Given the description of an element on the screen output the (x, y) to click on. 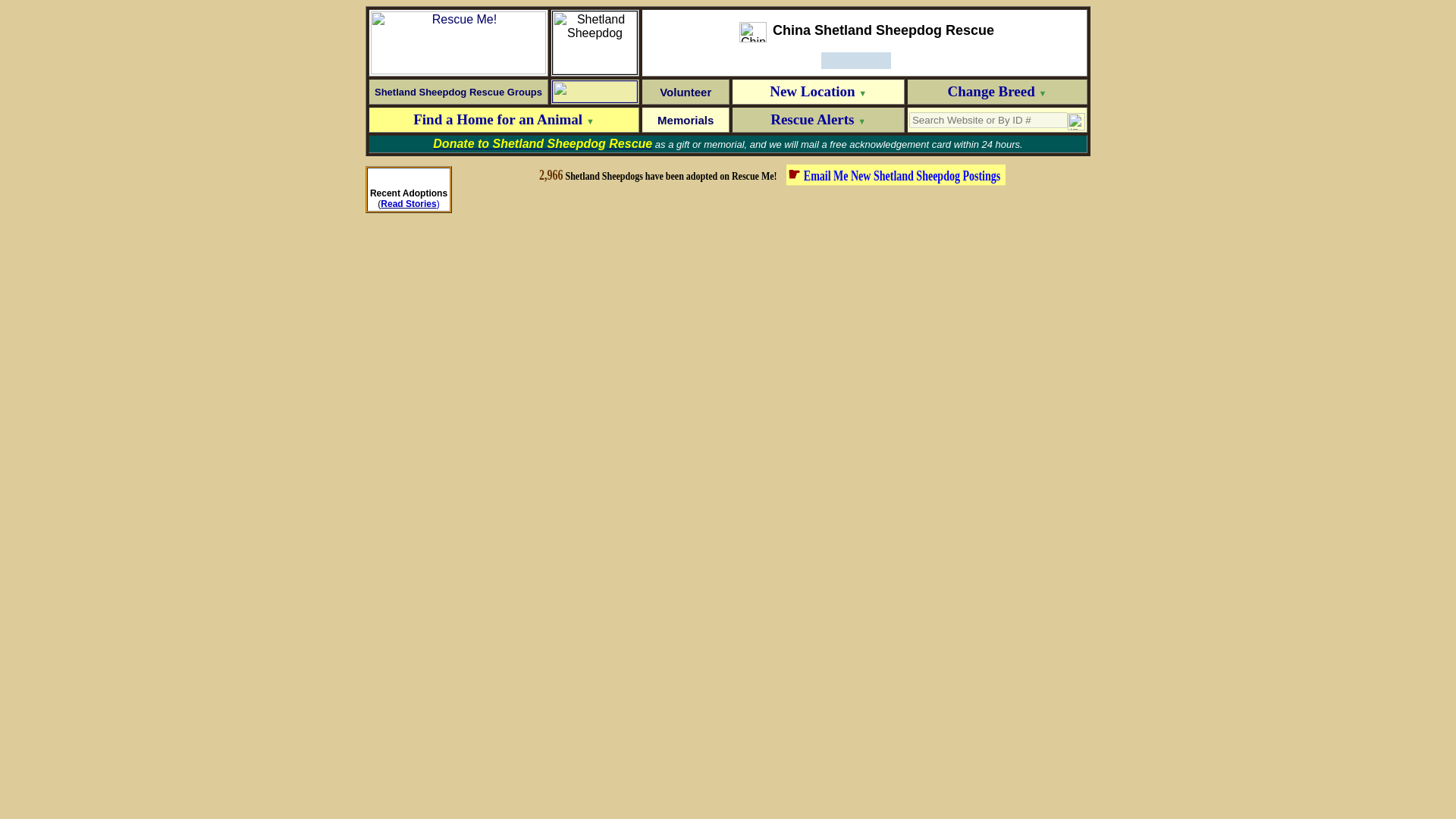
Memorials (685, 119)
Read Stories (407, 204)
Donate to Shetland Sheepdog Rescue (542, 143)
Shetland Sheepdog Rescue Groups (457, 91)
Email Me New Shetland Sheepdog Postings  (903, 173)
Volunteer (685, 91)
